Given the description of an element on the screen output the (x, y) to click on. 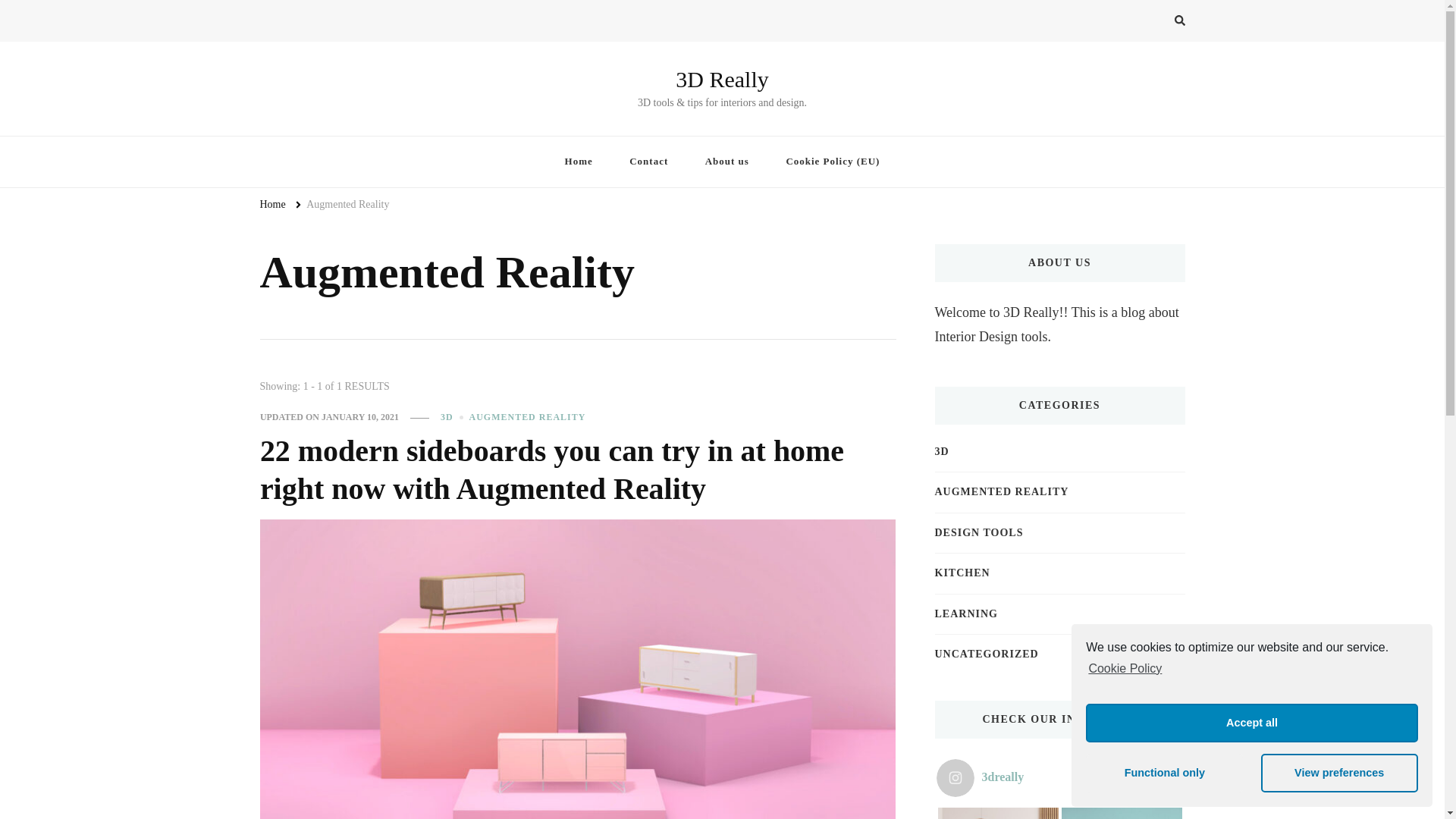
Home Element type: text (272, 204)
KITCHEN Element type: text (961, 572)
Cookie Policy (EU) Element type: text (832, 161)
AUGMENTED REALITY Element type: text (527, 417)
Home Element type: text (578, 161)
3D Element type: text (941, 451)
Cookie Policy Element type: text (1123, 667)
3D Really Element type: text (721, 78)
Contact Element type: text (648, 161)
About us Element type: text (726, 161)
AUGMENTED REALITY Element type: text (1001, 491)
DESIGN TOOLS Element type: text (978, 532)
JANUARY 10, 2021 Element type: text (359, 417)
UNCATEGORIZED Element type: text (986, 654)
Accept all Element type: text (1251, 722)
Functional only Element type: text (1163, 772)
Augmented Reality Element type: text (347, 204)
View preferences Element type: text (1339, 772)
LEARNING Element type: text (965, 613)
3dreally Element type: text (998, 778)
Search Element type: text (1152, 22)
3D Element type: text (453, 417)
